Given the description of an element on the screen output the (x, y) to click on. 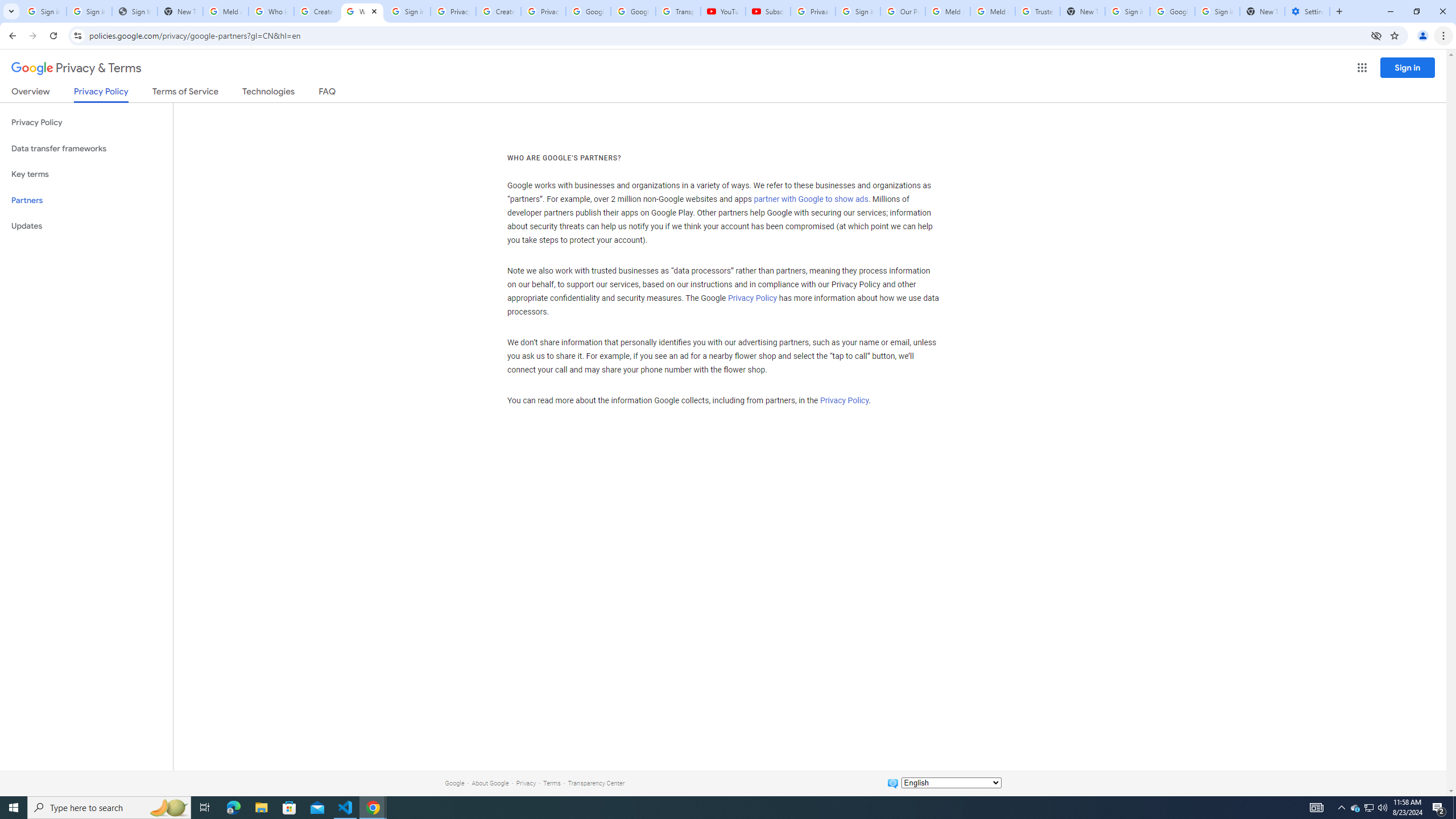
Who is my administrator? - Google Account Help (270, 11)
Sign In - USA TODAY (134, 11)
